Given the description of an element on the screen output the (x, y) to click on. 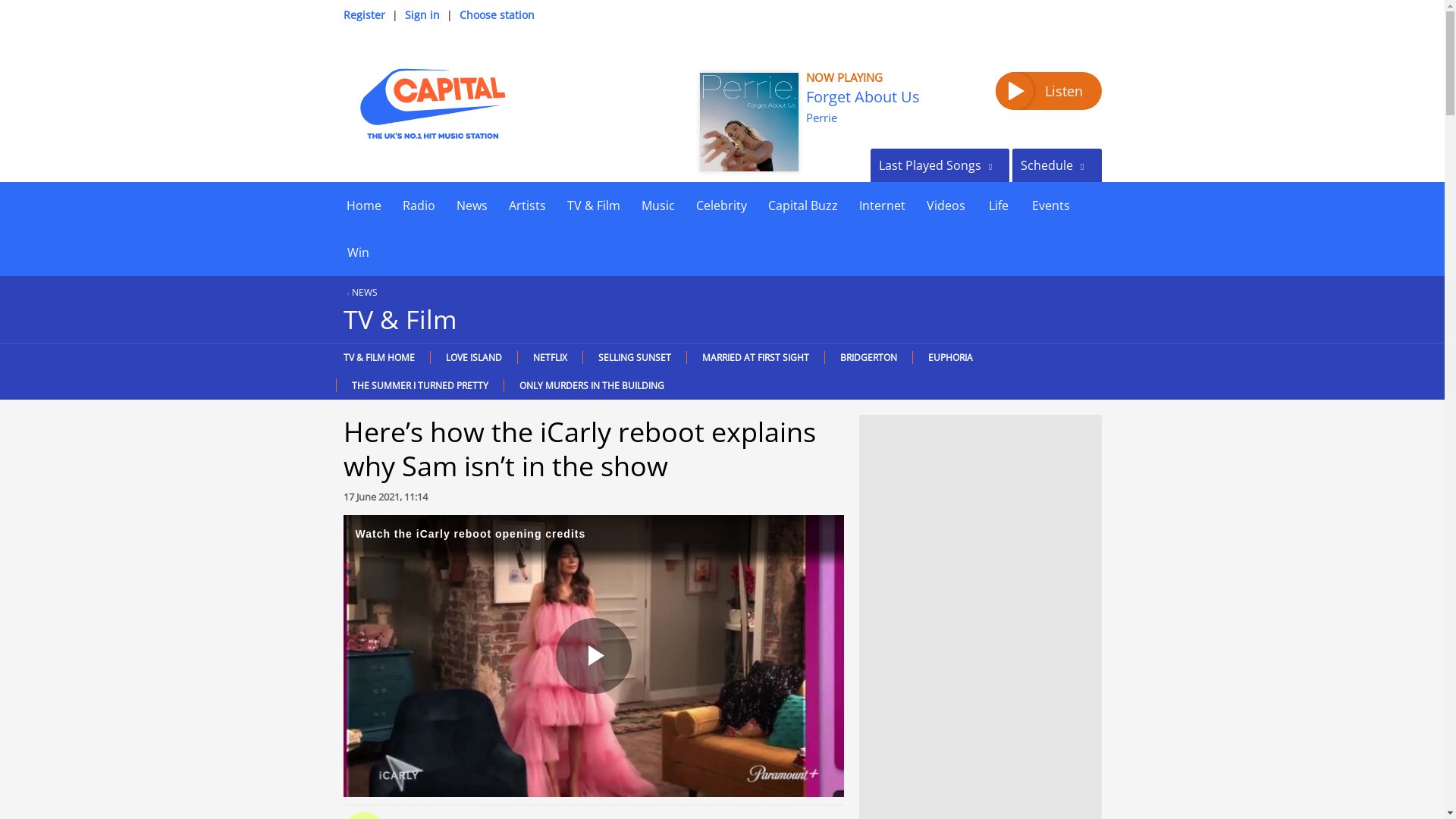
Win (357, 252)
Capital Buzz (802, 205)
SELLING SUNSET (633, 357)
Schedule (1055, 164)
NEWS (359, 291)
Radio (418, 205)
Internet (881, 205)
Artists (526, 205)
NETFLIX (549, 357)
News (471, 205)
Events (1050, 205)
LOVE ISLAND (472, 357)
Last Played Songs (939, 164)
Home (362, 205)
